Given the description of an element on the screen output the (x, y) to click on. 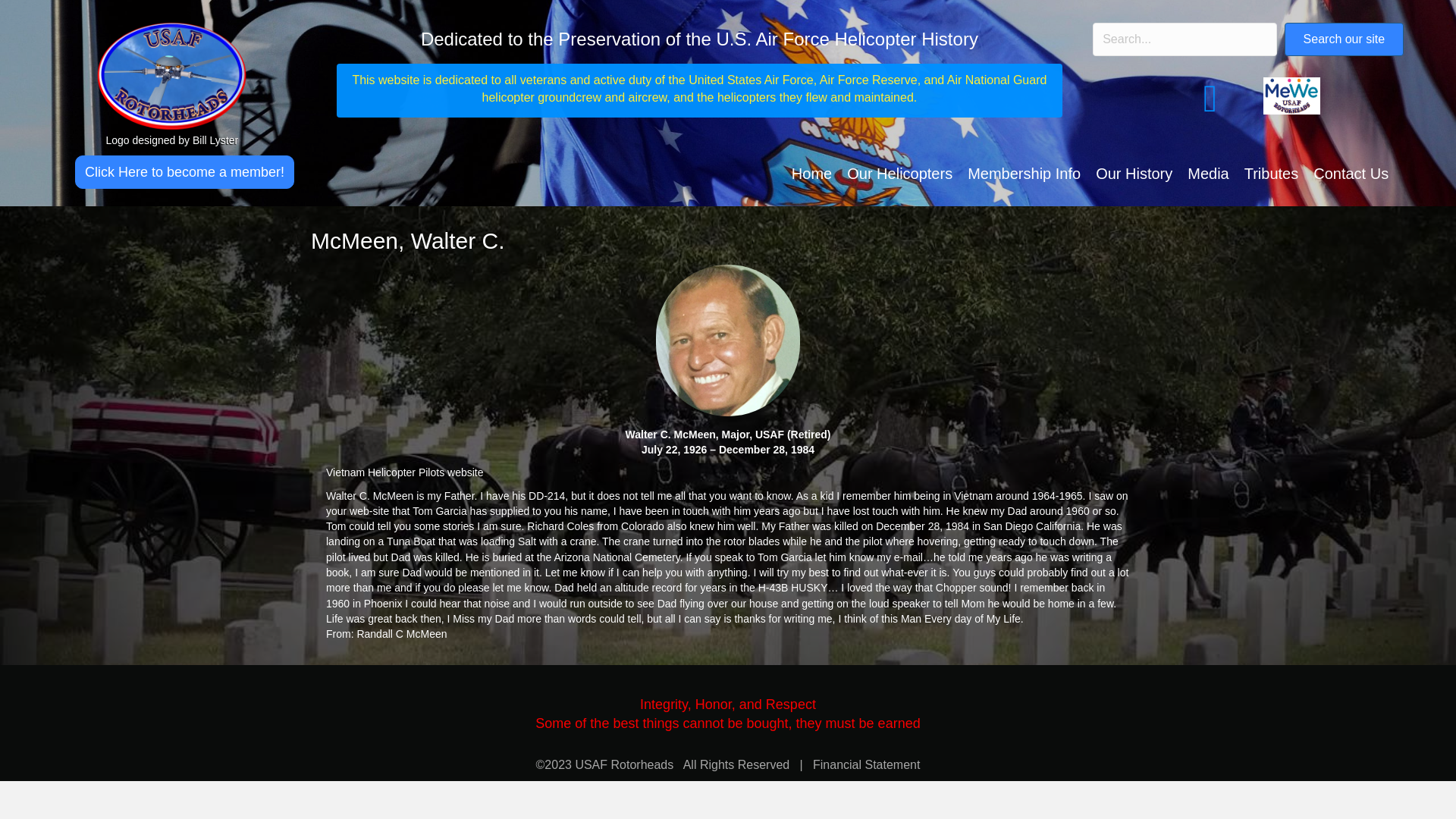
Home (812, 173)
Membership Info (1023, 173)
Our History (1133, 173)
Search our site (1344, 39)
Our Helicopters (899, 173)
Click Here to become a member! (184, 172)
